Given the description of an element on the screen output the (x, y) to click on. 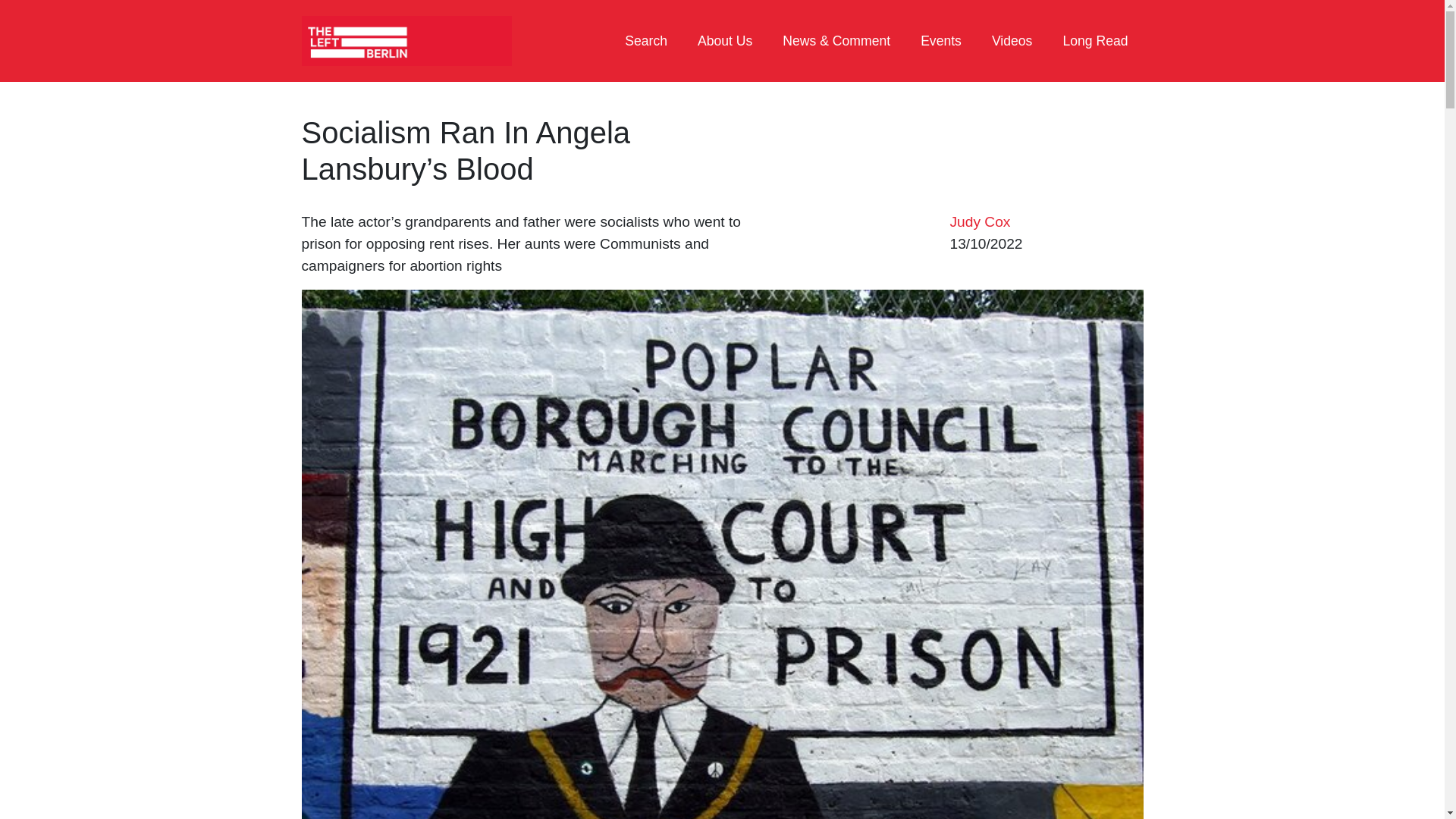
Long Read (1094, 40)
Search (646, 40)
About Us (724, 40)
Events (940, 40)
Search (646, 40)
Events (940, 40)
Videos (1011, 40)
Judy Cox (979, 221)
Long Read (1094, 40)
About Us (724, 40)
